Given the description of an element on the screen output the (x, y) to click on. 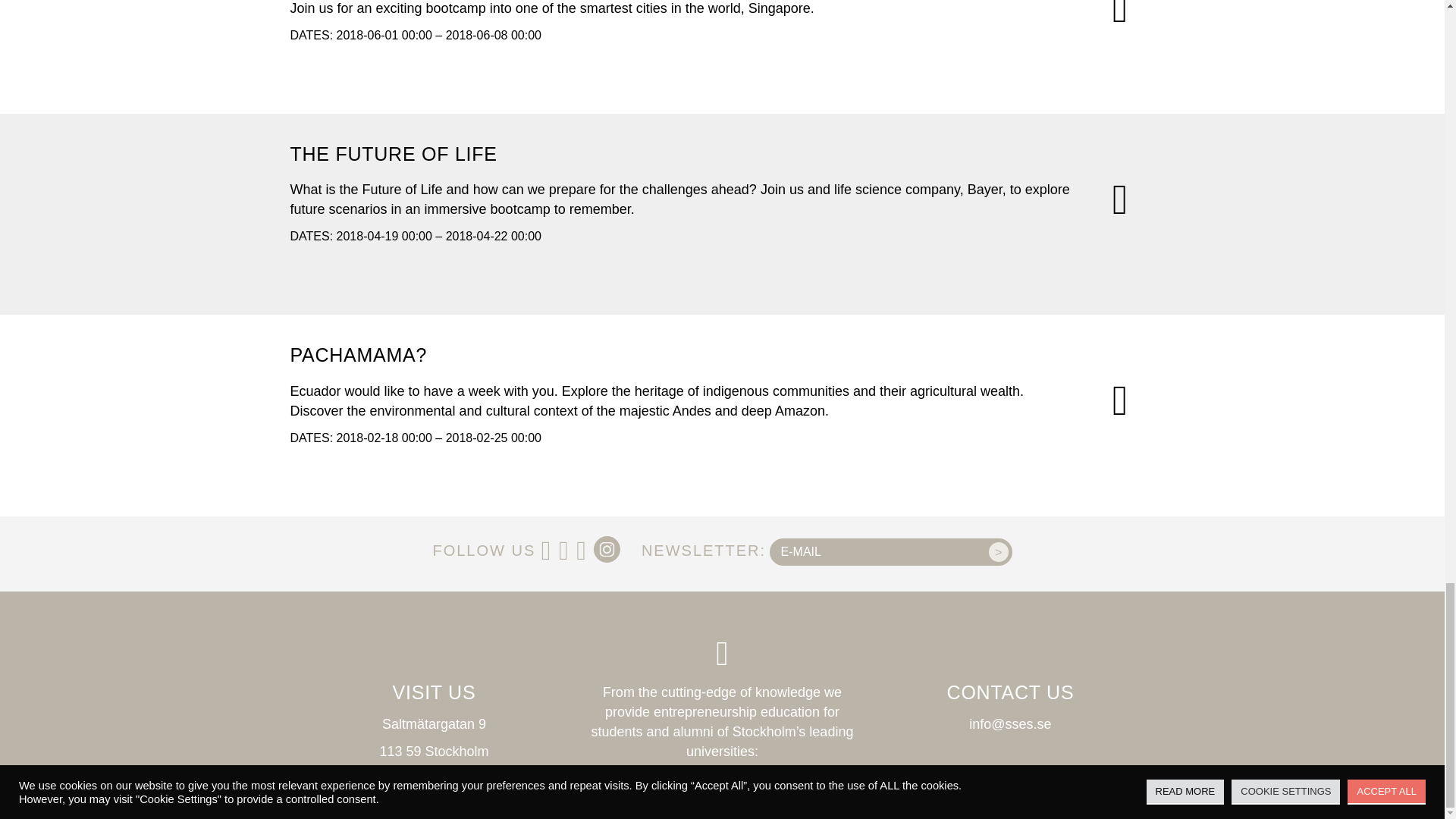
KTH (702, 771)
Konstfack (651, 771)
SSE (737, 771)
